Given the description of an element on the screen output the (x, y) to click on. 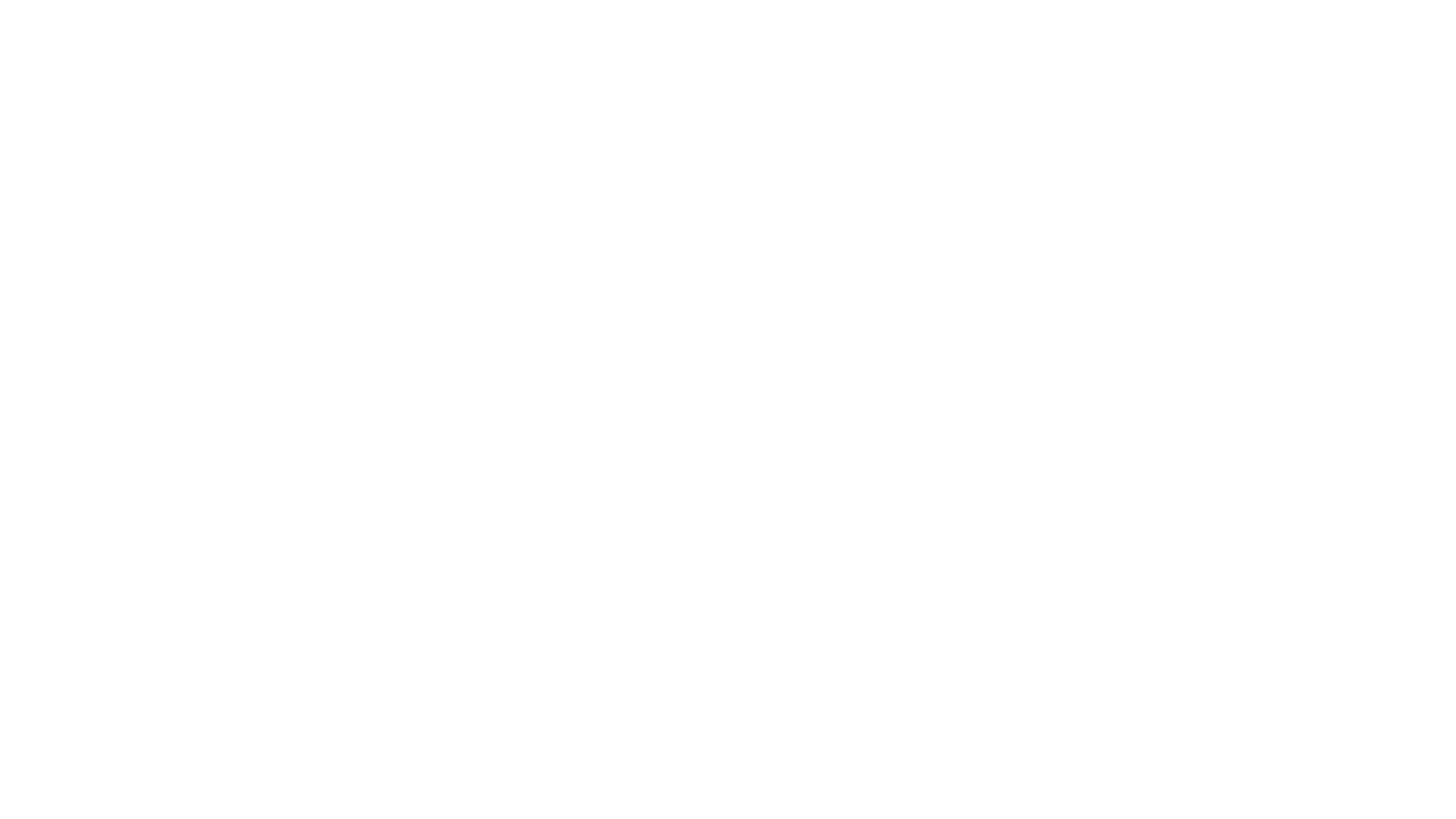
Cloudflare Element type: text (798, 799)
